Given the description of an element on the screen output the (x, y) to click on. 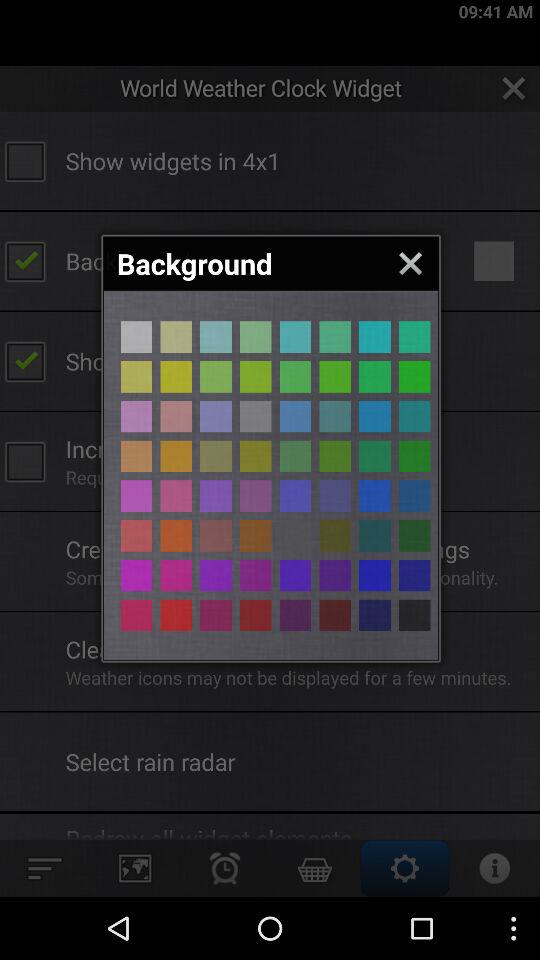
select color (255, 416)
